Given the description of an element on the screen output the (x, y) to click on. 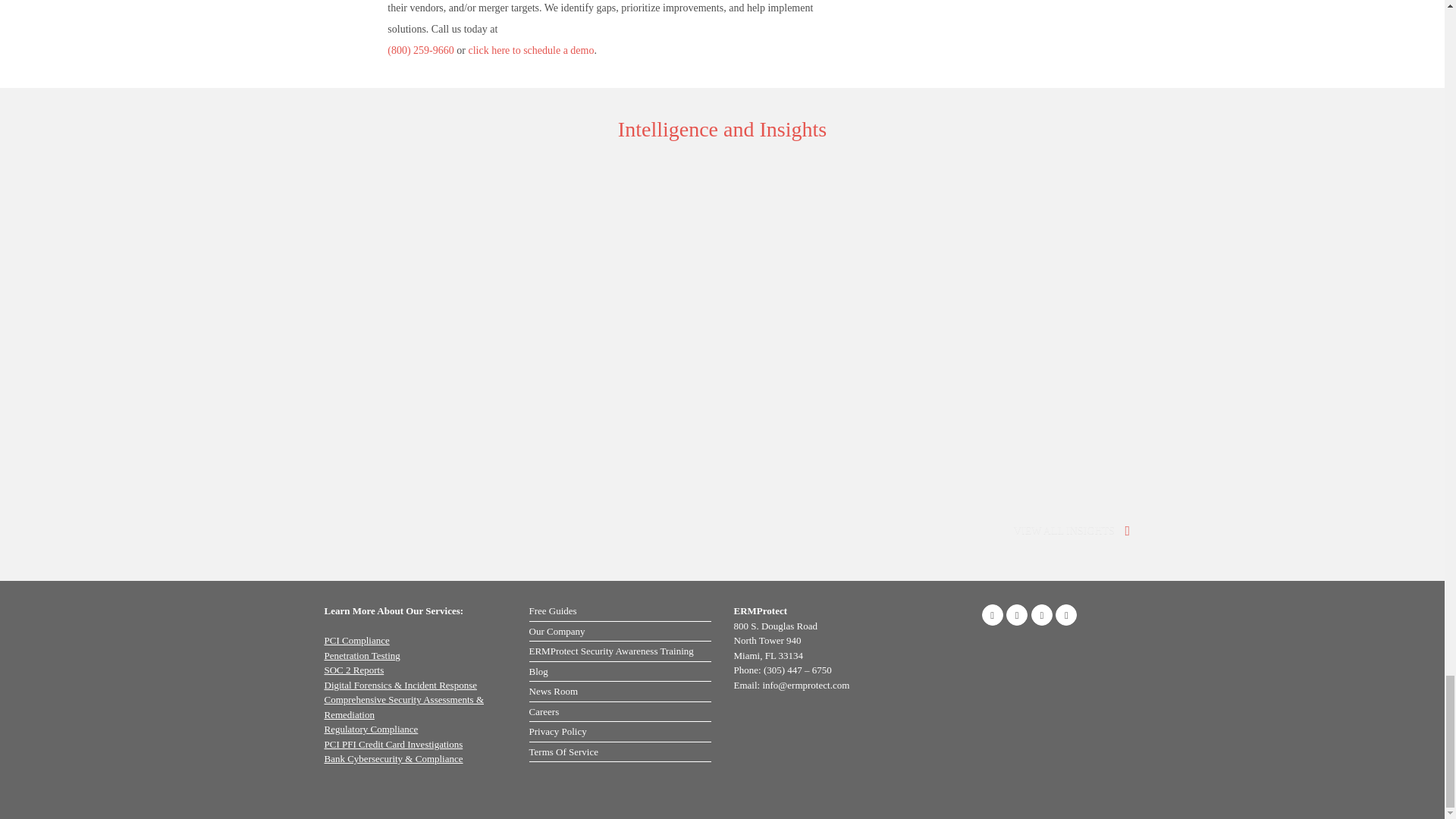
ERMProtect Cybersecurity on Linkedin (1016, 614)
ERMProtect Cybersecurity on Youtube (1066, 614)
ERMProtect Cybersecurity on Facebook (992, 614)
ERMProtect Cybersecurity on X Twitter (1041, 614)
